Given the description of an element on the screen output the (x, y) to click on. 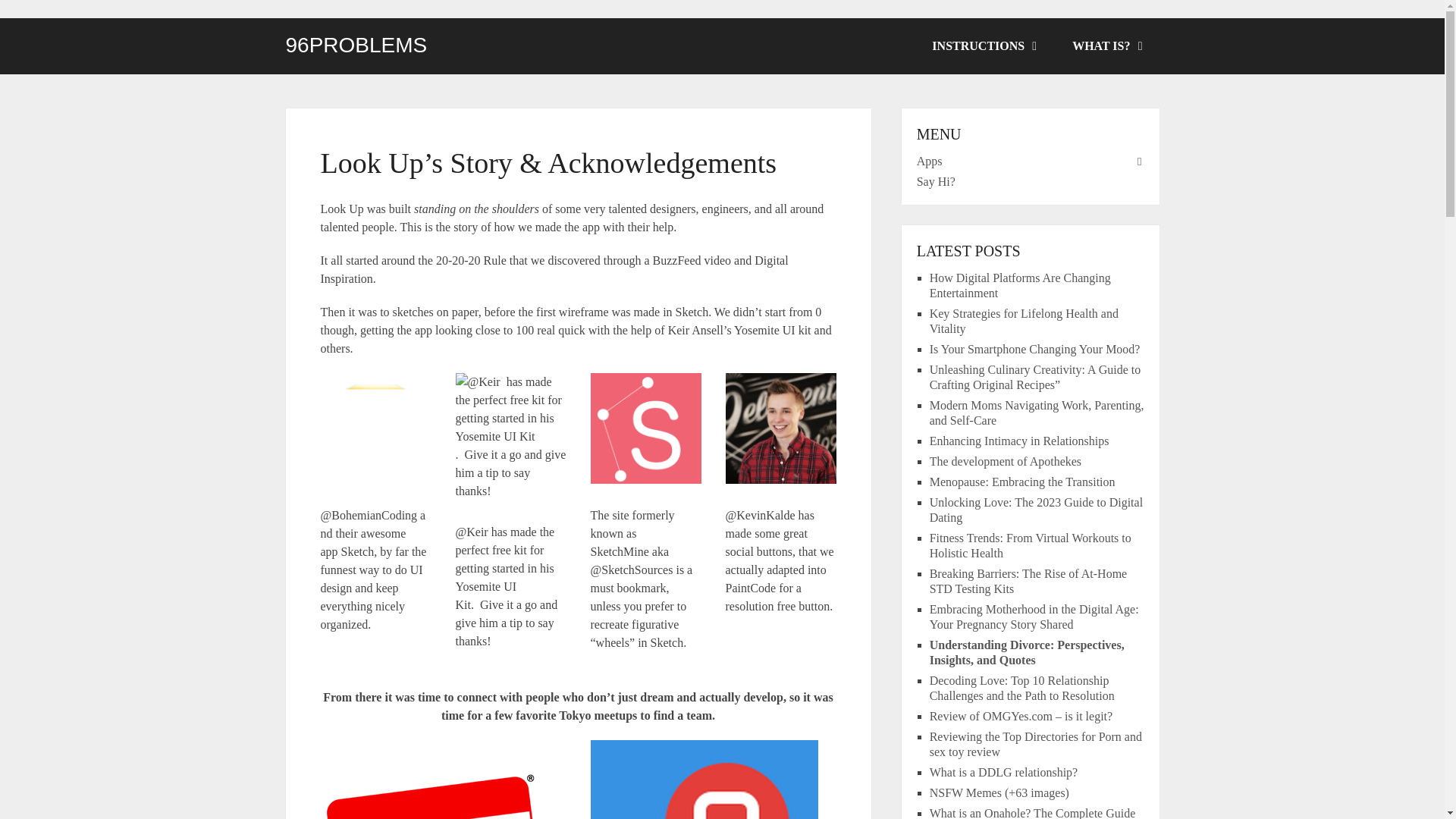
Menopause: Embracing the Transition (1022, 481)
Say Hi? (936, 181)
Fitness Trends: From Virtual Workouts to Holistic Health (1030, 545)
The development of Apothekes (1005, 461)
Reviewing the Top Directories for Porn and sex toy review (1035, 744)
Modern Moms Navigating Work, Parenting, and Self-Care (1037, 412)
Breaking Barriers: The Rise of At-Home STD Testing Kits (1028, 581)
INSTRUCTIONS (982, 46)
How Digital Platforms Are Changing Entertainment (1020, 285)
